Given the description of an element on the screen output the (x, y) to click on. 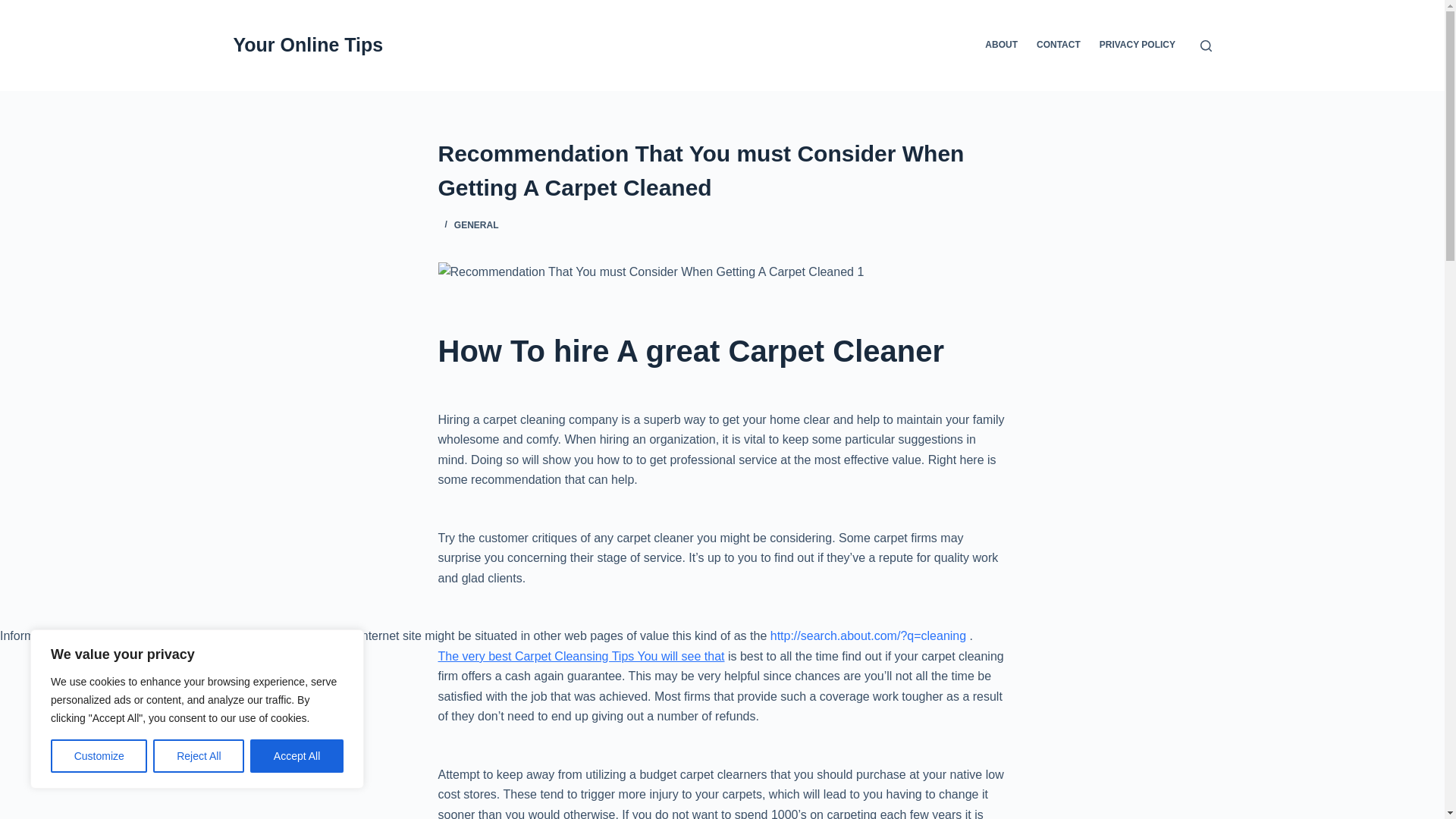
PRIVACY POLICY (1137, 45)
The very best Carpet Cleansing Tips You will see that (581, 656)
Reject All (198, 756)
GENERAL (476, 225)
Accept All (296, 756)
Skip to content (15, 7)
Customize (98, 756)
Your Online Tips (308, 44)
